Given the description of an element on the screen output the (x, y) to click on. 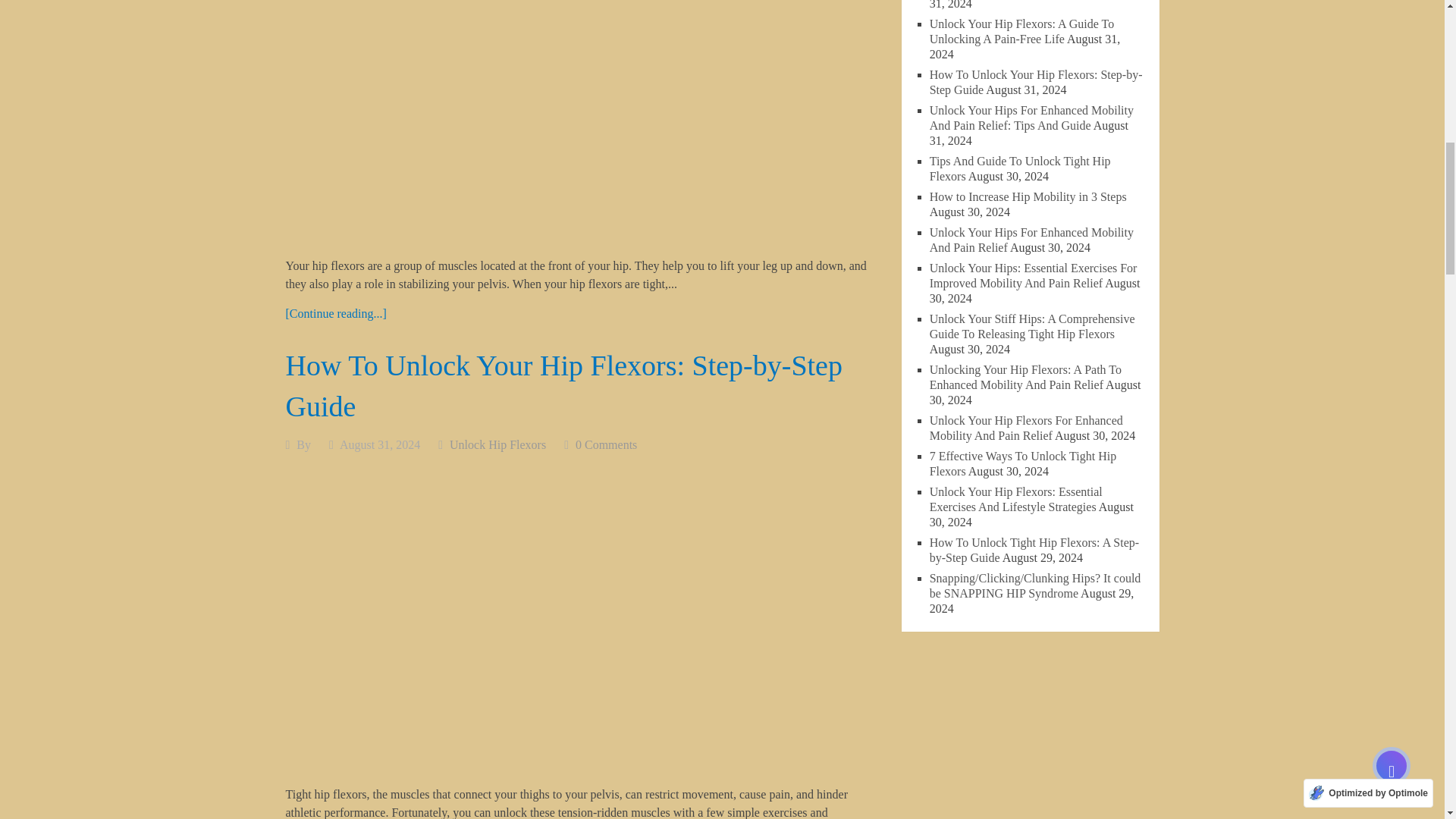
0 Comments (606, 444)
Unlock Hip Flexors (497, 444)
How To Unlock Your Hip Flexors: Step-by-Step Guide (564, 385)
How To Unlock Your Hip Flexors: Step-by-Step Guide (564, 385)
